Given the description of an element on the screen output the (x, y) to click on. 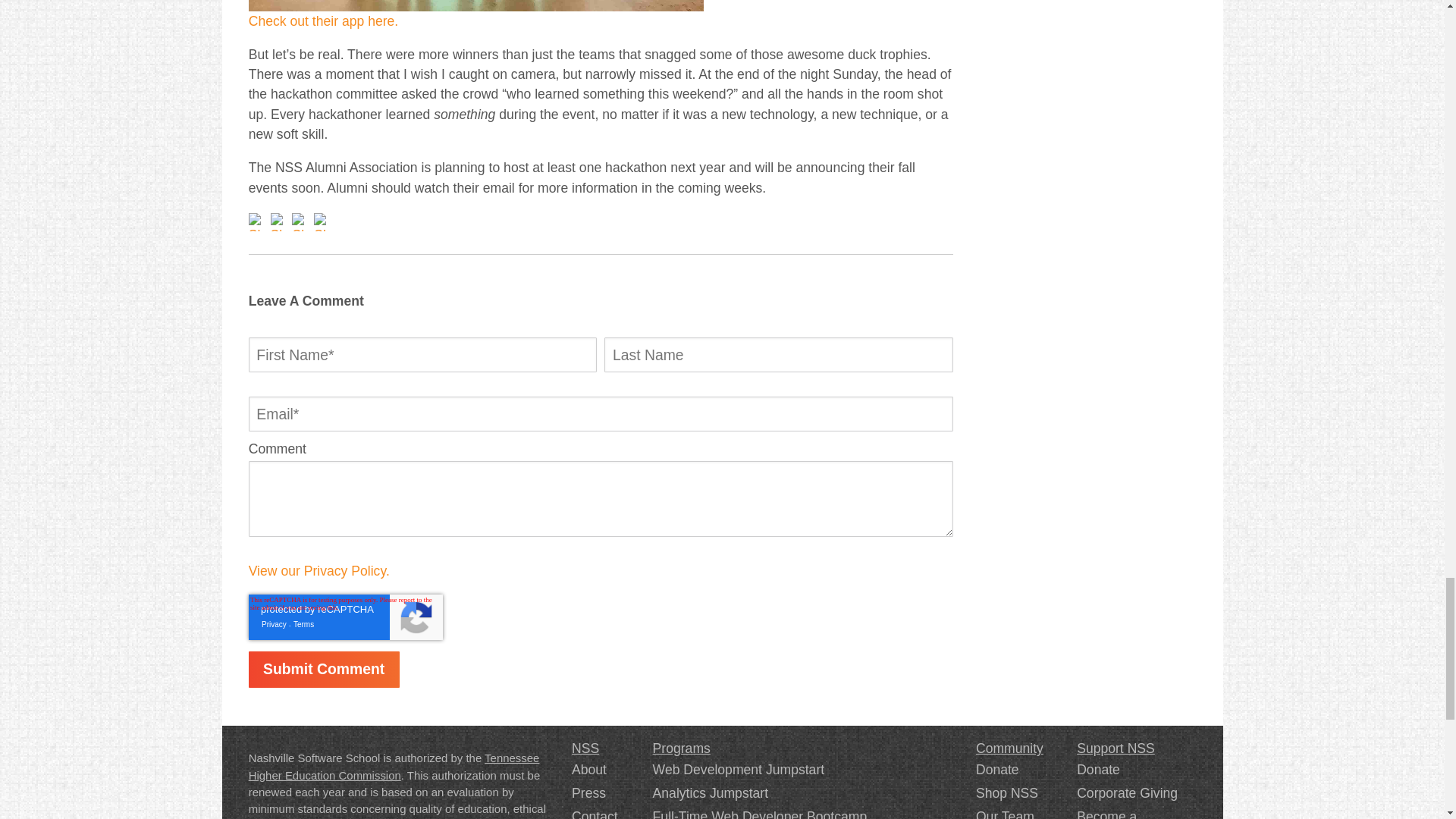
Check out their app here. (323, 20)
Submit Comment (323, 669)
View our Privacy Policy. (319, 570)
reCAPTCHA (345, 616)
